Given the description of an element on the screen output the (x, y) to click on. 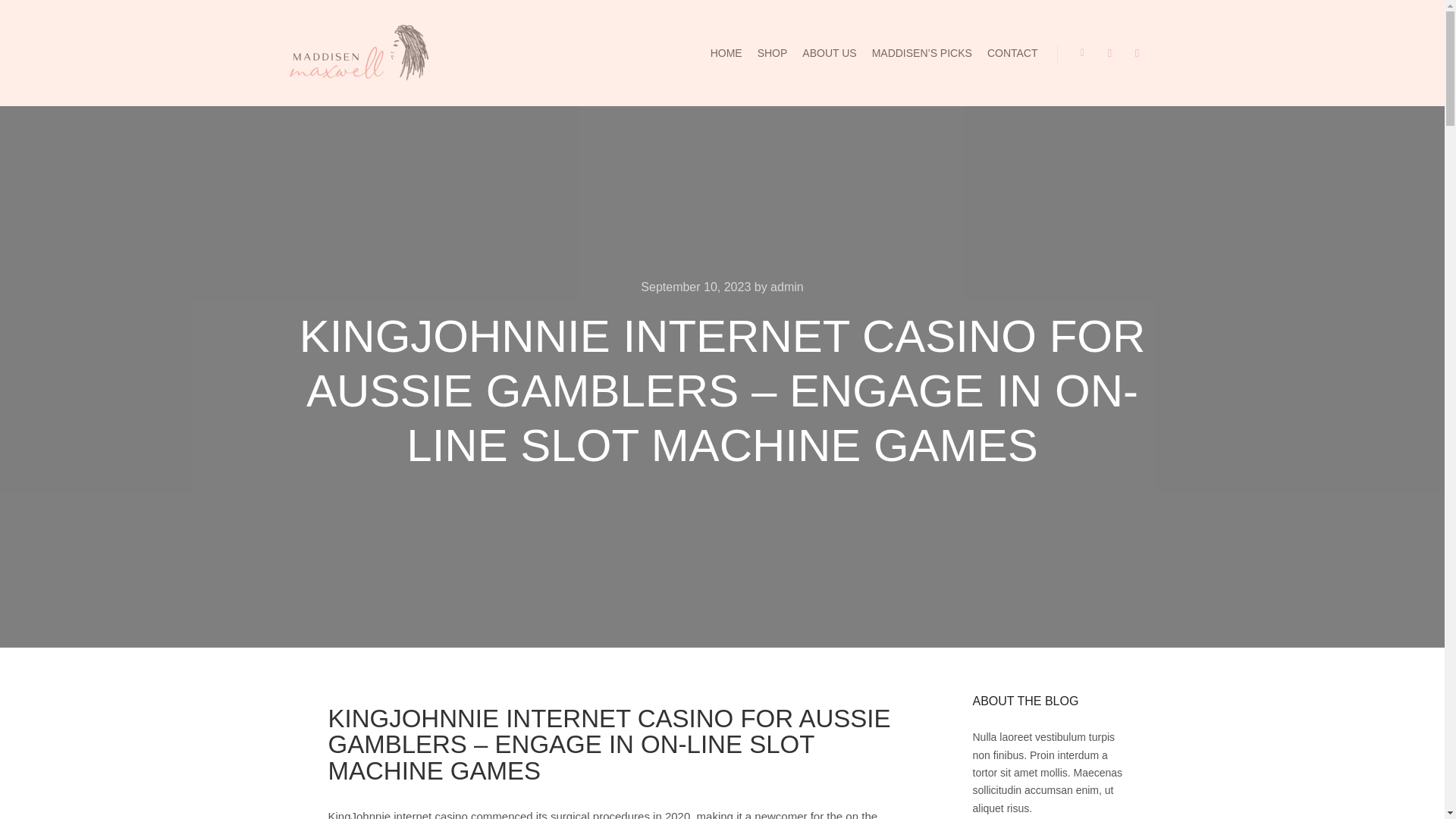
More info (1137, 53)
Shop sidebar (1082, 53)
Search (1110, 53)
admin (786, 286)
Search (1110, 53)
View all posts by admin (786, 286)
Maddisen Maxwell (357, 53)
More info (1137, 53)
Shop sidebar (1082, 53)
